Given the description of an element on the screen output the (x, y) to click on. 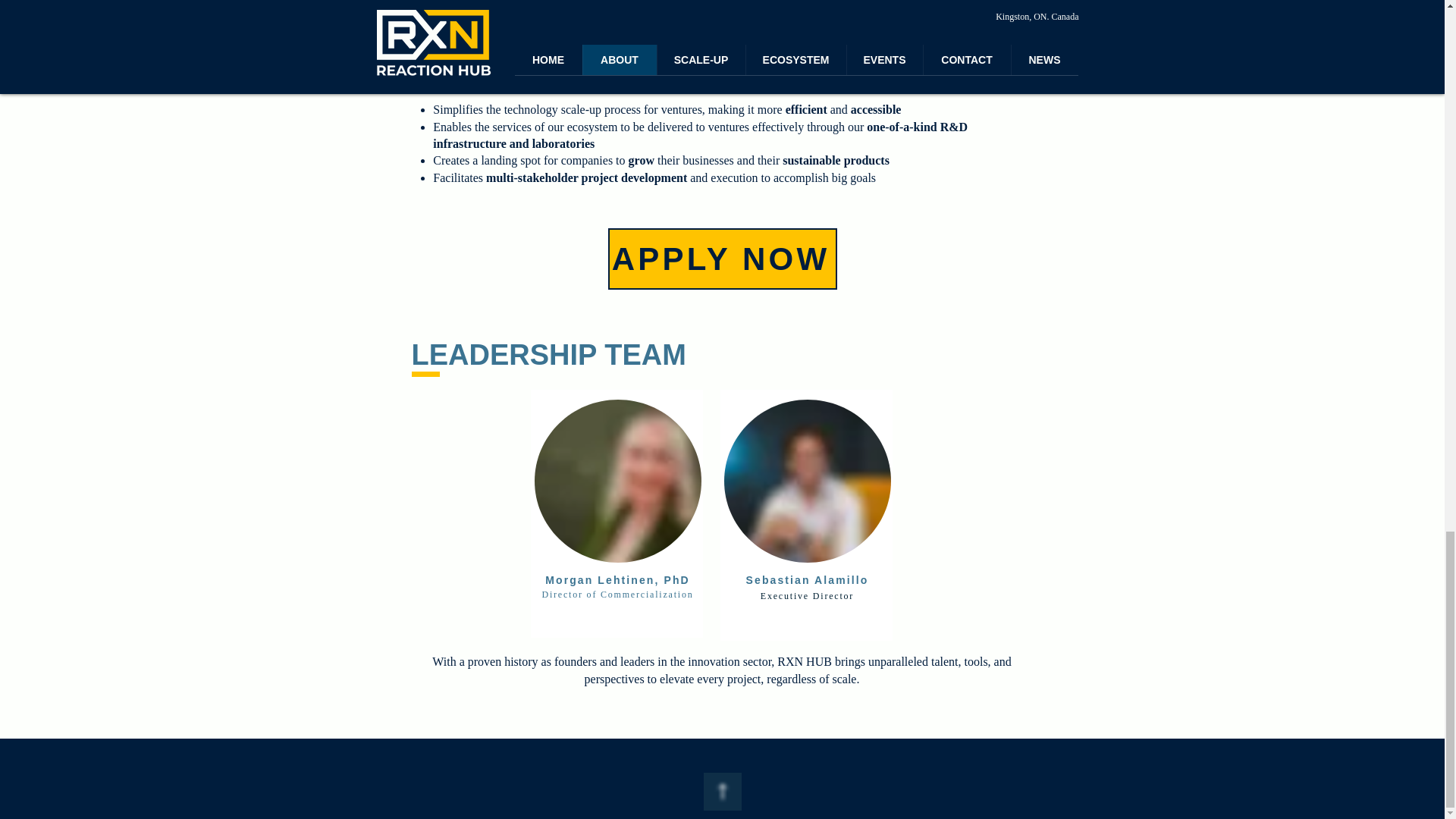
APPLY NOW (722, 258)
